Given the description of an element on the screen output the (x, y) to click on. 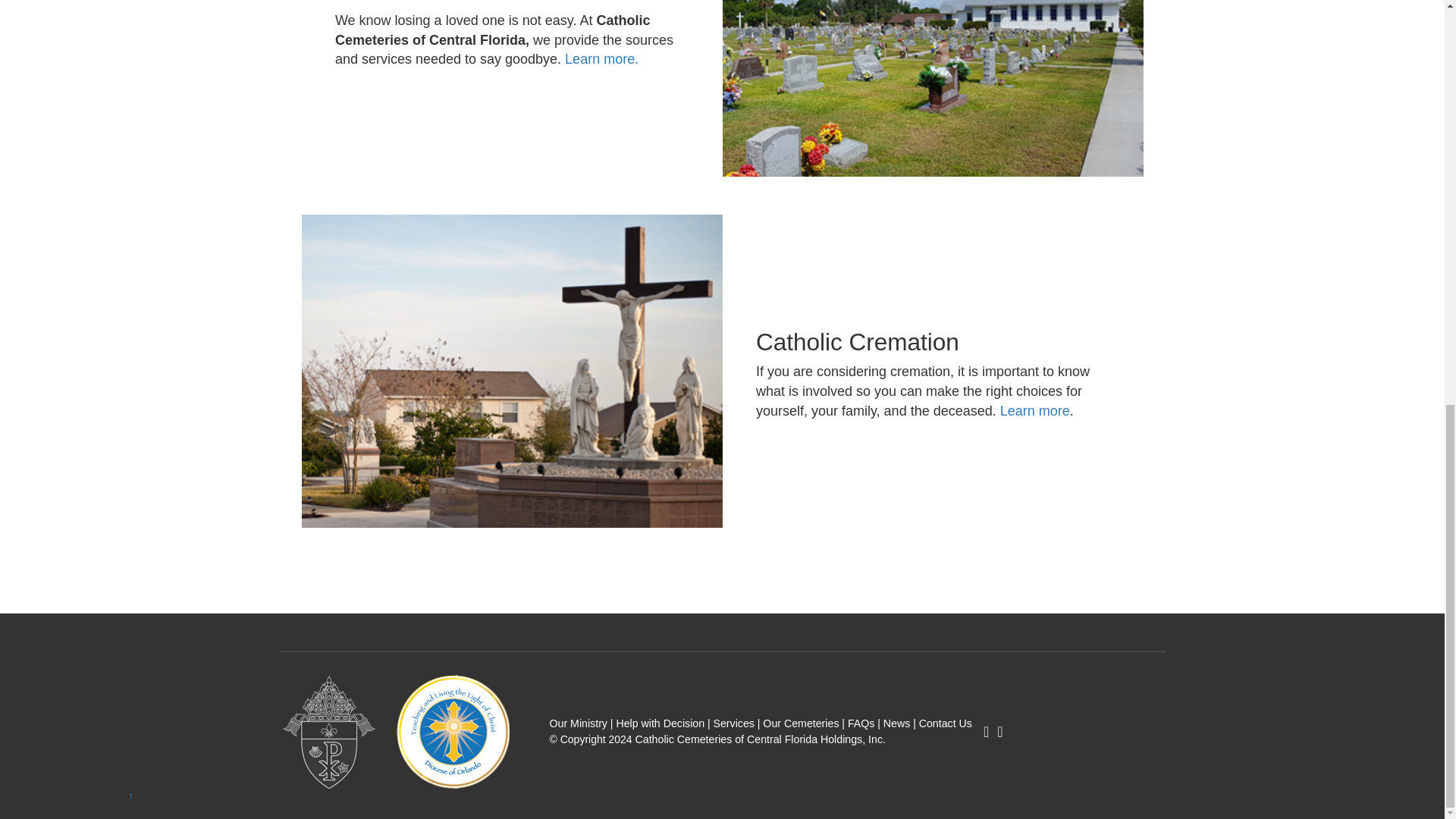
Our Cemeteries (800, 726)
Learn more. (601, 58)
Catholic Cemeteries of Central Florida Holdings, Inc. (759, 742)
News (896, 726)
Learn more (1035, 410)
Help with Decision (659, 726)
FAQs (861, 726)
Our Ministry (577, 726)
Contact Us (945, 726)
Services (733, 726)
